Given the description of an element on the screen output the (x, y) to click on. 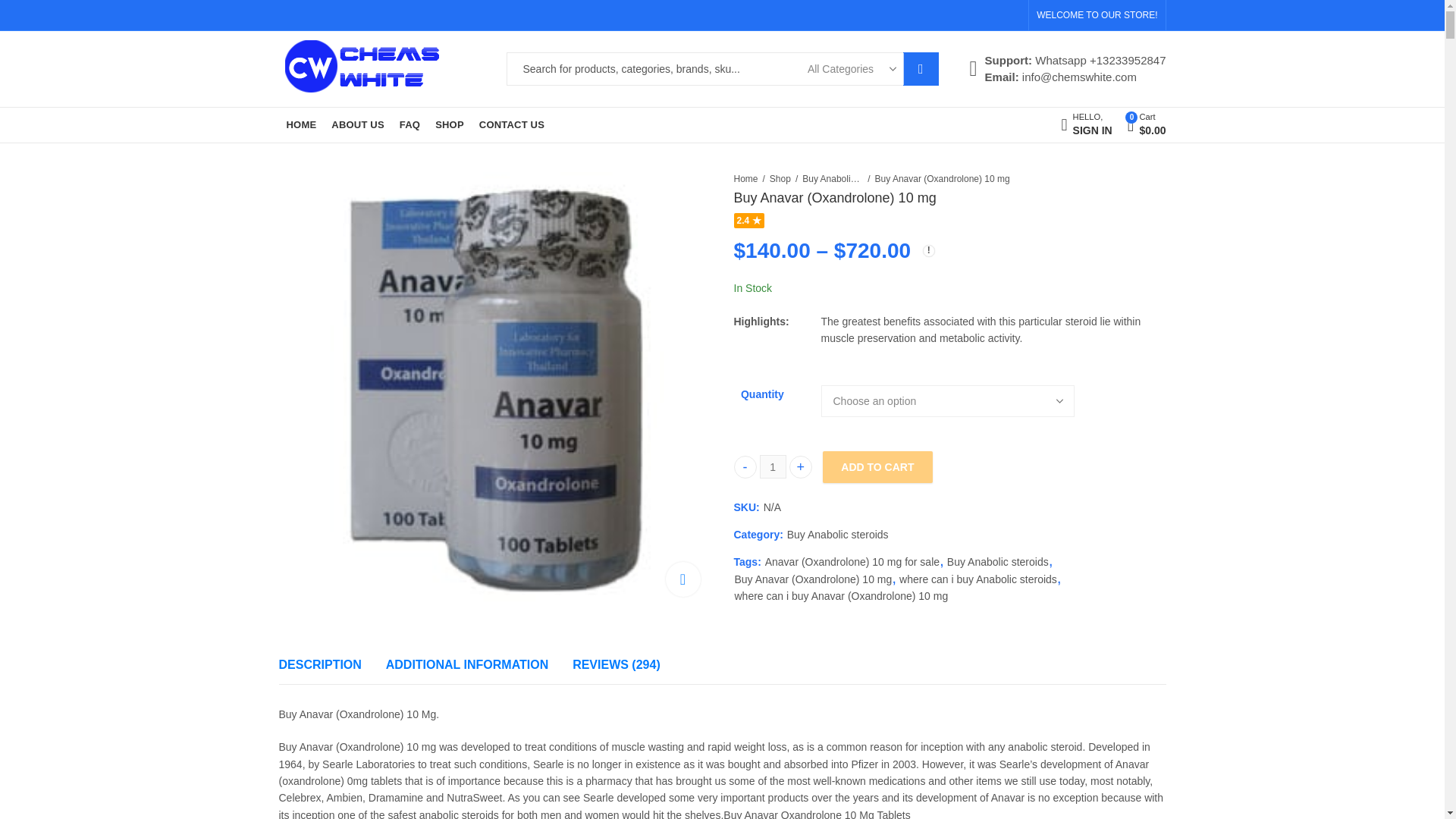
Qty (773, 466)
SEARCH (920, 68)
SHOP (449, 125)
ABOUT US (357, 125)
Buy Anabolic steroids (832, 178)
FAQ (409, 125)
where can i buy Anabolic steroids (978, 579)
ADD TO CART (877, 467)
Home (745, 178)
Lightbox (682, 579)
